Given the description of an element on the screen output the (x, y) to click on. 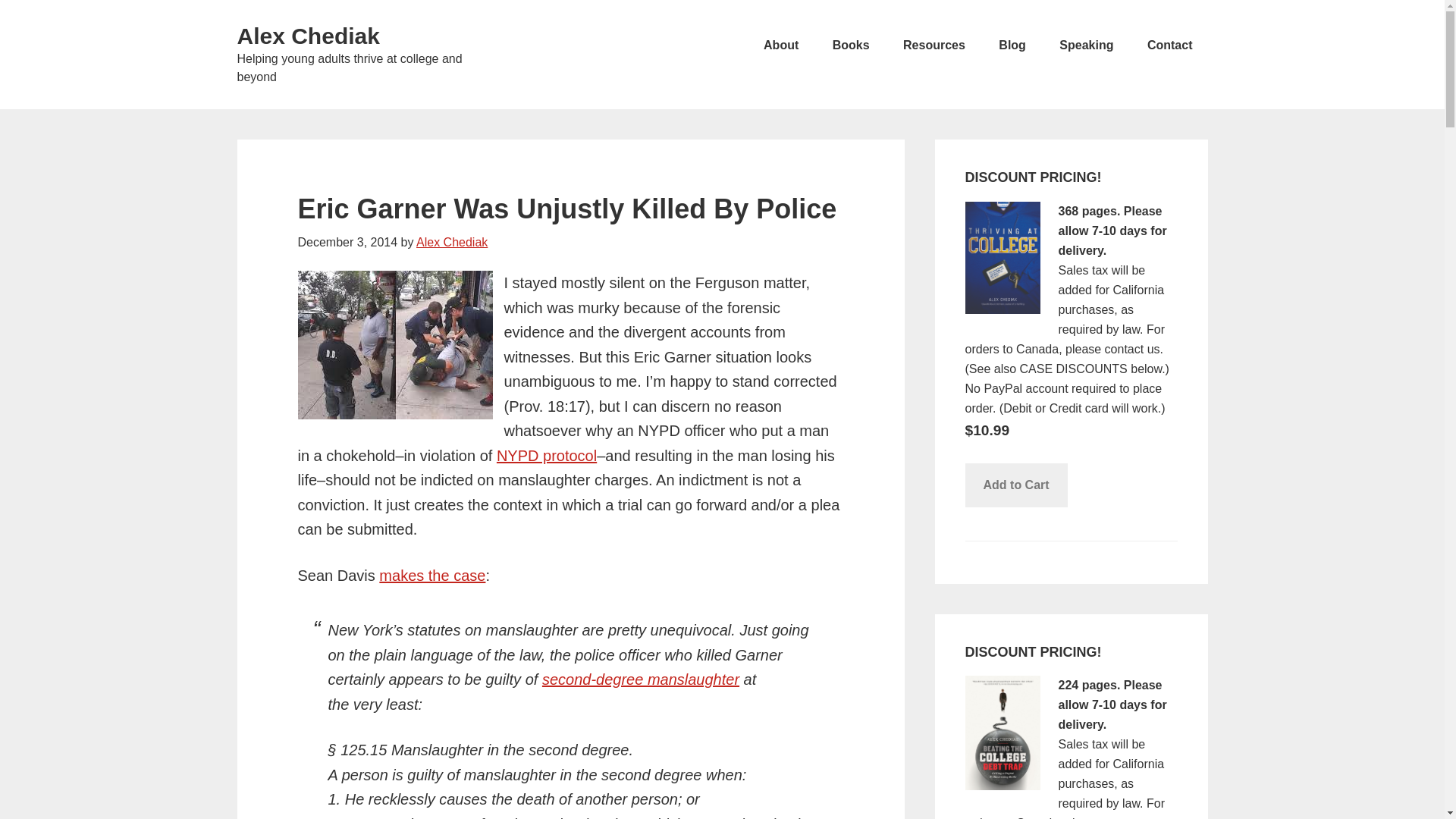
Books (850, 45)
Alex Chediak (306, 35)
About (780, 45)
Add to Cart (1015, 484)
